Given the description of an element on the screen output the (x, y) to click on. 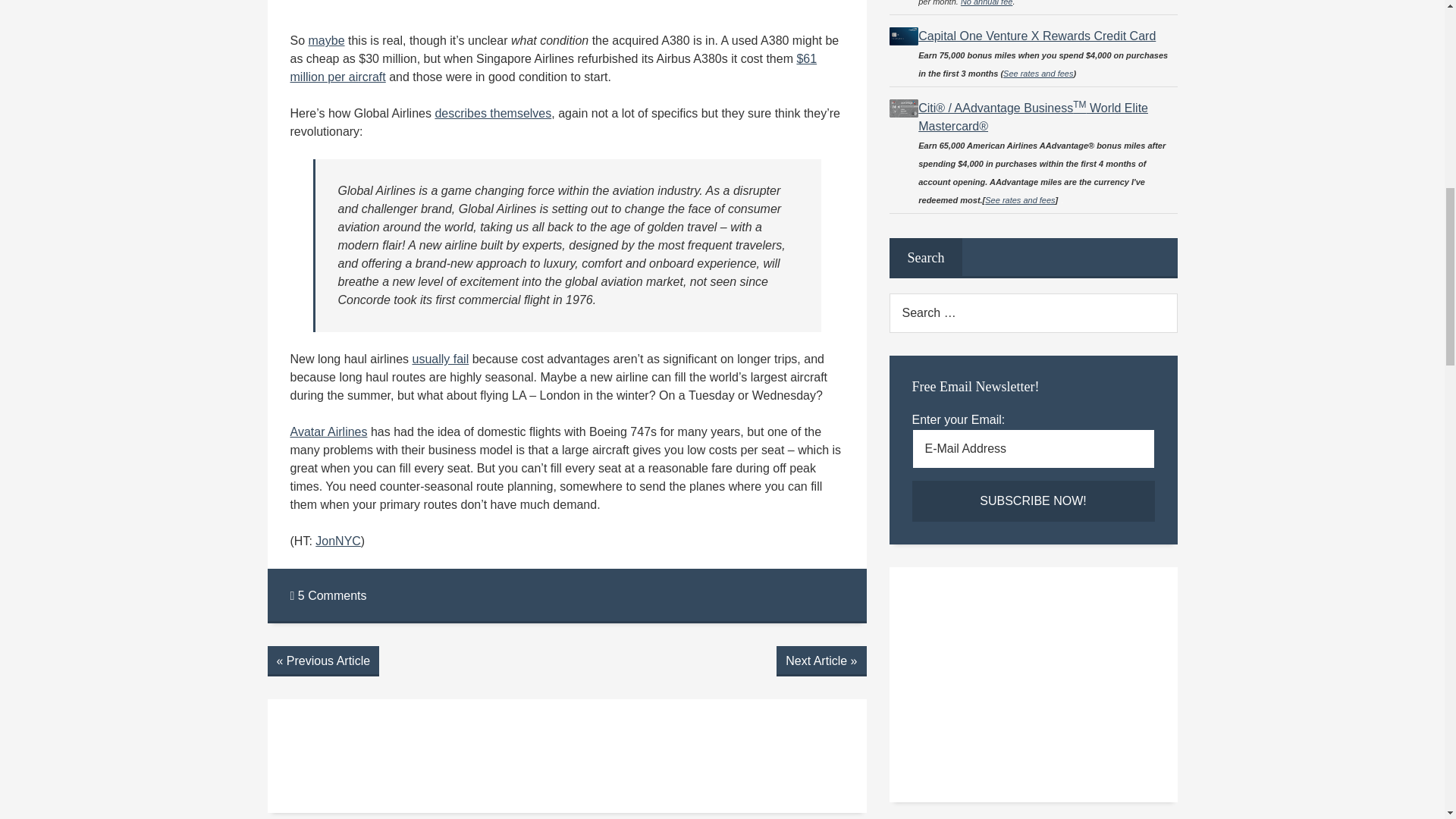
JonNYC (338, 540)
Subscribe Now! (1032, 500)
E-Mail Address (1032, 448)
Avatar Airlines (327, 431)
maybe (326, 40)
describes themselves (492, 113)
usually fail (440, 358)
5 Comments (327, 594)
